Given the description of an element on the screen output the (x, y) to click on. 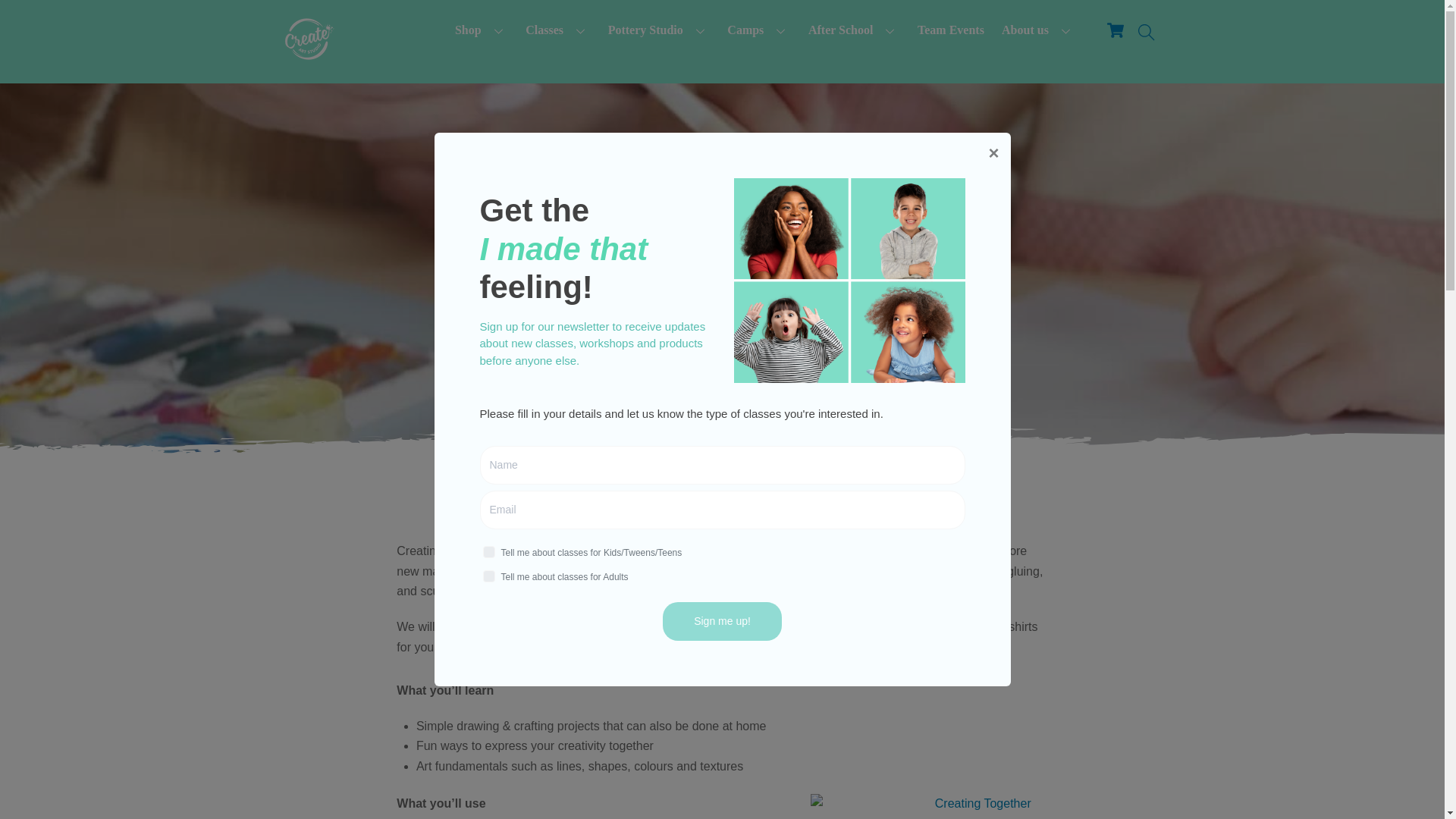
Cart (1115, 30)
Classes (557, 30)
Camps (758, 30)
Creating Together (976, 803)
About us (1037, 30)
Search (1146, 31)
Pottery Studio (658, 30)
After School (853, 30)
Shop (480, 30)
Team Events (950, 30)
Create Art Studio (308, 54)
